Given the description of an element on the screen output the (x, y) to click on. 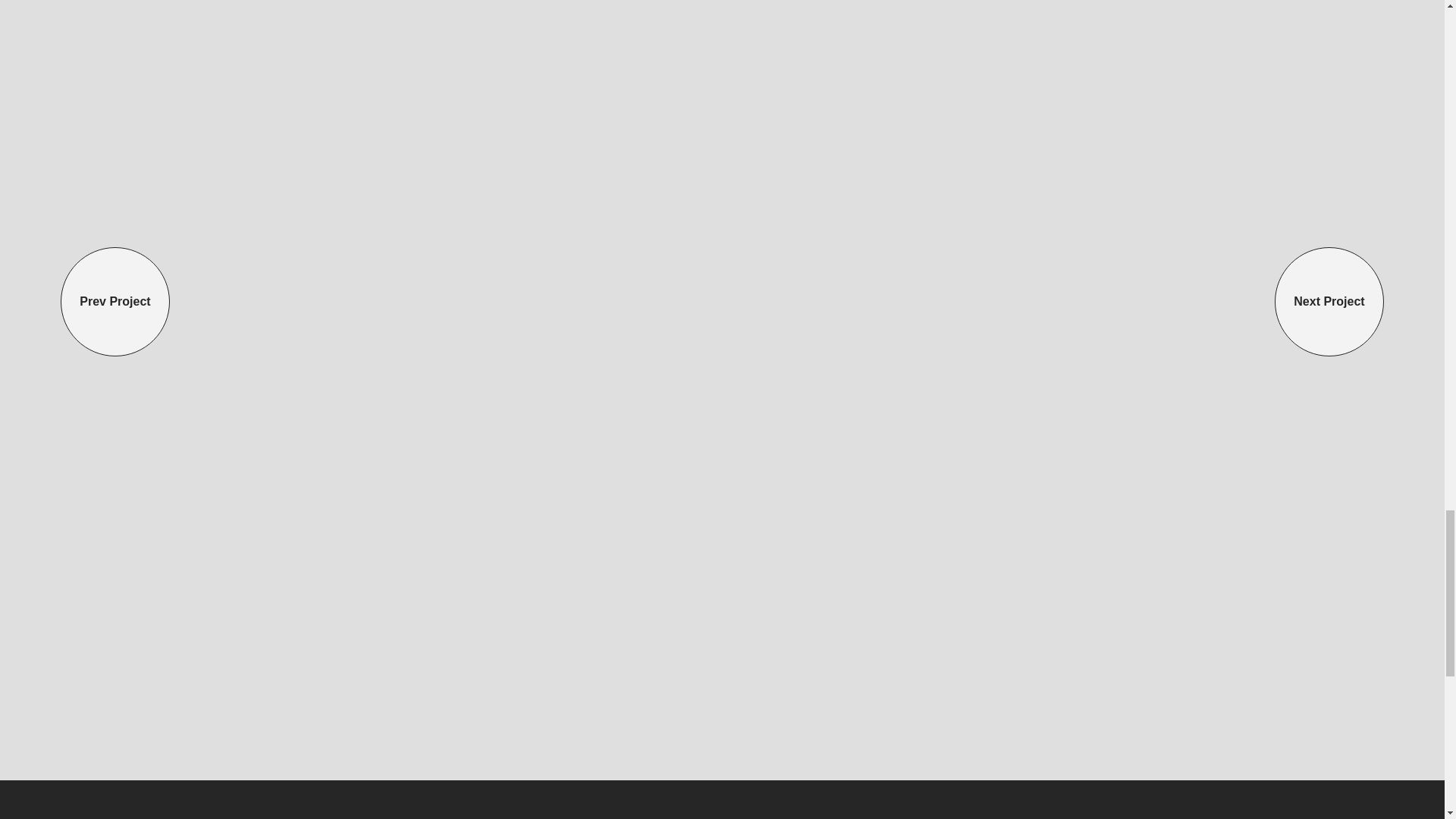
Prev Project (115, 301)
Next Project (1329, 301)
